Given the description of an element on the screen output the (x, y) to click on. 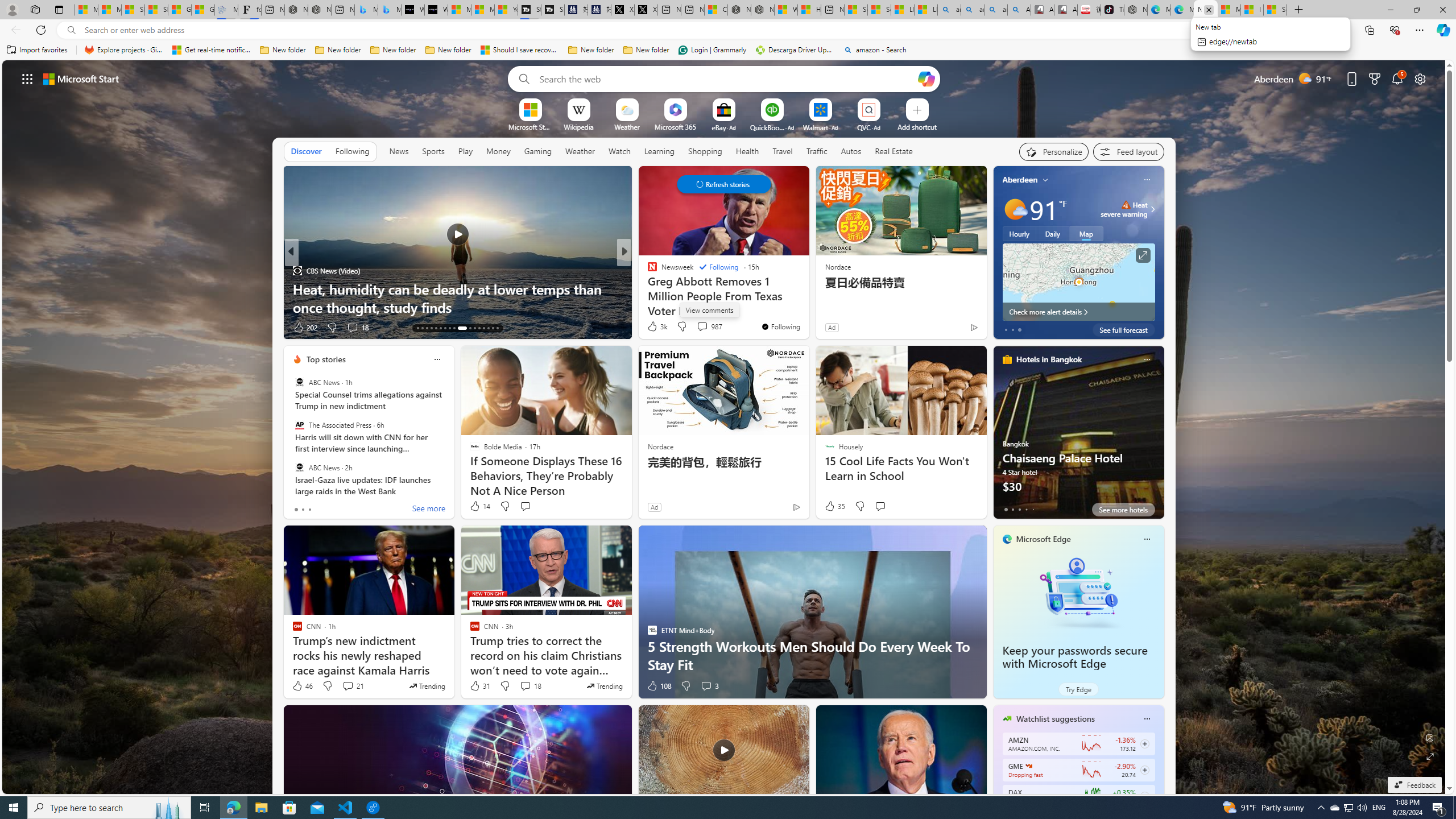
Microsoft Start (1228, 9)
Start the conversation (880, 505)
You're following The Weather Channel (949, 329)
Add a site (916, 126)
108 Like (658, 685)
Huge shark washes ashore at New York City beach | Watch (809, 9)
View comments 1 Comment (698, 327)
Shopping (705, 151)
Microsoft rewards (1374, 78)
Health (746, 151)
Check more alert details (1077, 311)
